Given the description of an element on the screen output the (x, y) to click on. 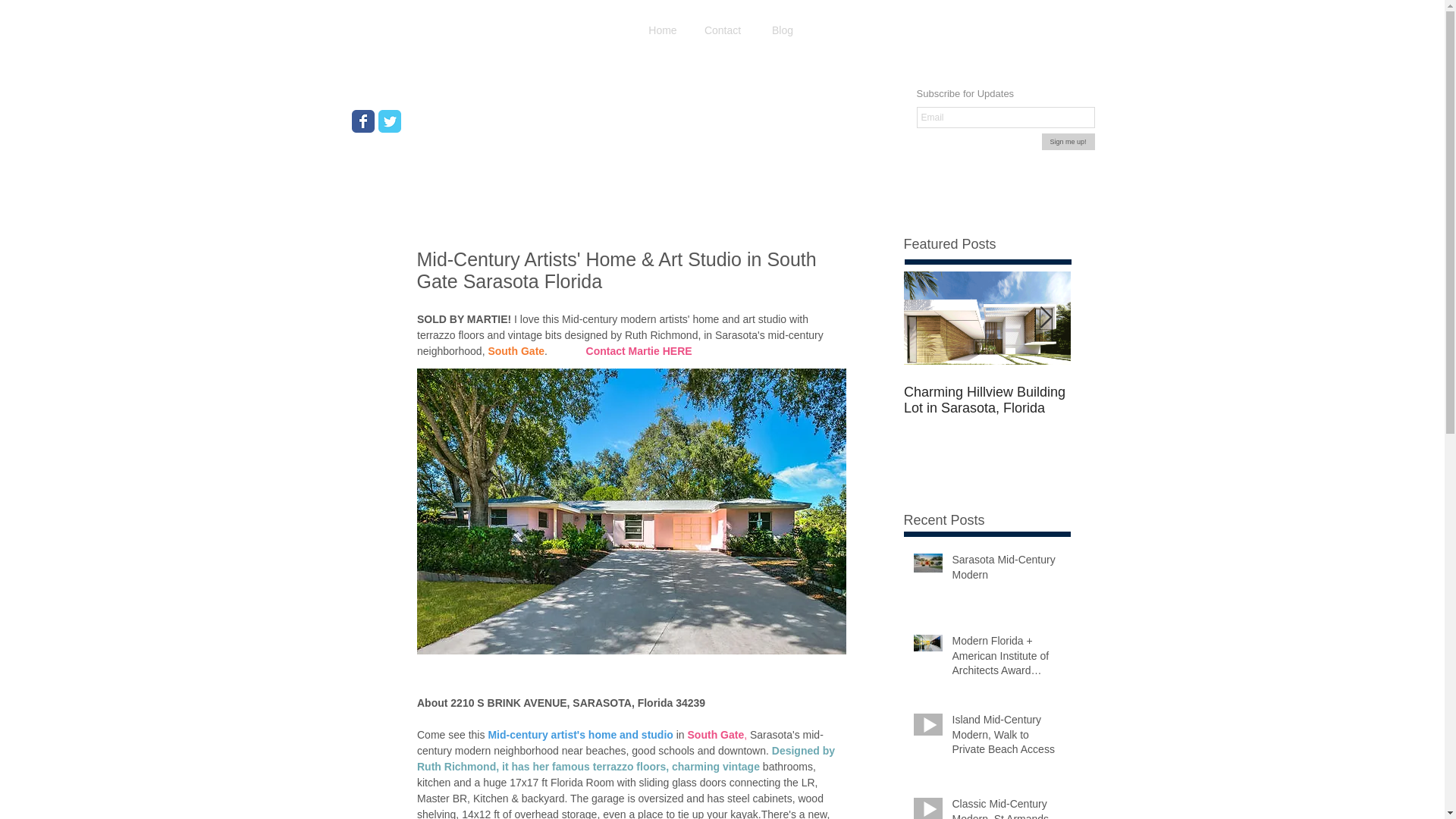
Island Mid-Century Modern, Walk to Private Beach Access (1006, 737)
South Gate (515, 350)
Sarasota Mid-Century Modern (1006, 570)
Blog (782, 30)
AN ARCHITECTURAL THOROUGHBRED (1153, 400)
Contact (722, 30)
Sign me up! (1068, 141)
South Gate (715, 734)
Contact Martie HERE (638, 350)
Charming Hillview Building Lot in Sarasota, Florida (987, 400)
Home (662, 30)
